Given the description of an element on the screen output the (x, y) to click on. 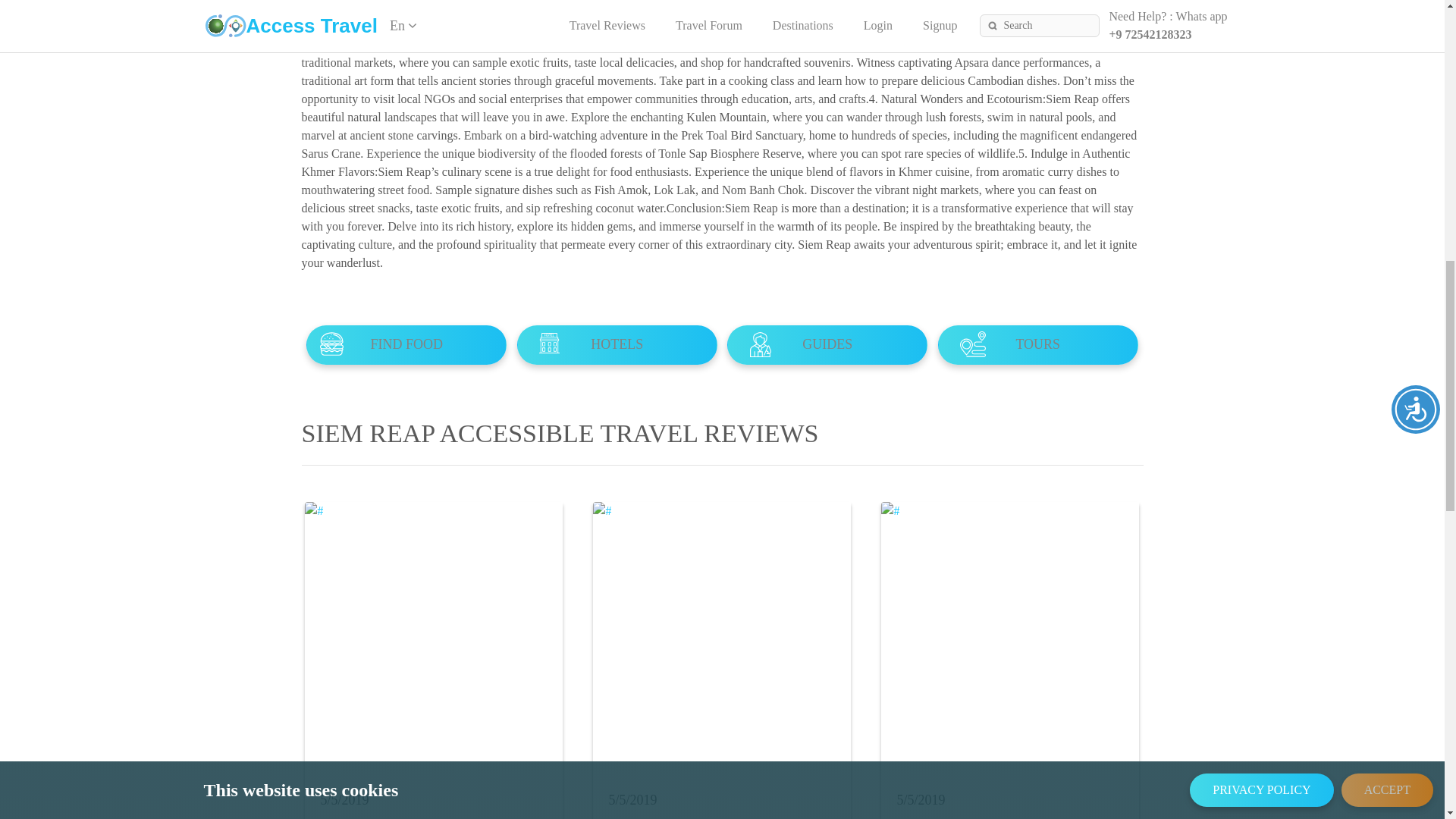
FIND FOOD (405, 344)
GUIDES (826, 344)
TOURS (1037, 344)
ANGKOR WAT CULTURAL HERITAGE EXPLORATION TOUR (429, 814)
HOTELS (616, 344)
ANGKOR WAT EXPLORER: ULTIMATE ADVENTURE TOUR (717, 814)
